Given the description of an element on the screen output the (x, y) to click on. 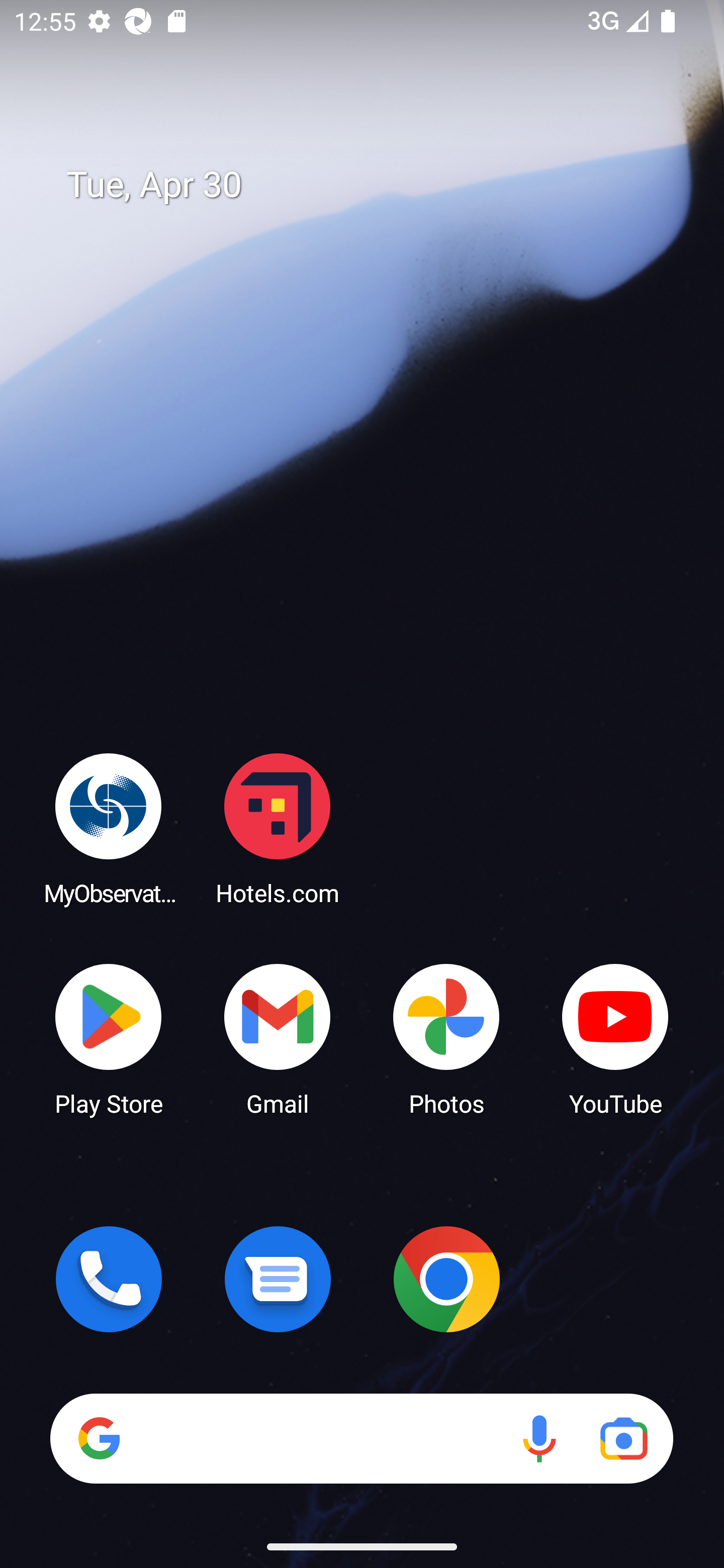
Tue, Apr 30 (375, 184)
MyObservatory (108, 828)
Hotels.com (277, 828)
Play Store (108, 1038)
Gmail (277, 1038)
Photos (445, 1038)
YouTube (615, 1038)
Phone (108, 1279)
Messages (277, 1279)
Chrome (446, 1279)
Voice search (539, 1438)
Google Lens (623, 1438)
